Given the description of an element on the screen output the (x, y) to click on. 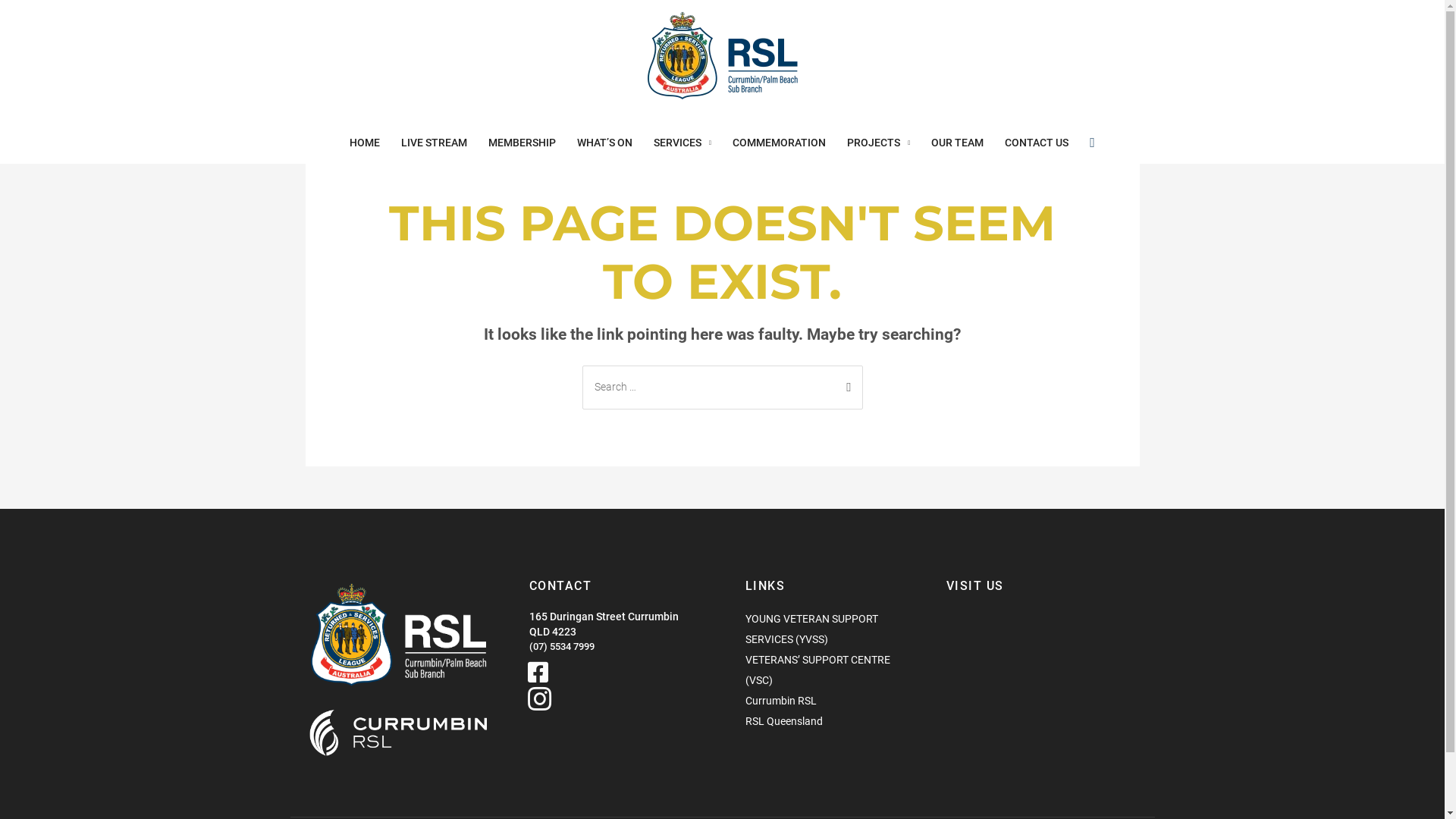
CONTACT US Element type: text (1036, 142)
SERVICES Element type: text (682, 142)
COMMEMORATION Element type: text (778, 142)
OUR TEAM Element type: text (957, 142)
Search Element type: text (845, 380)
165 duringan street currumbin Element type: hover (1046, 685)
(07) 5534 7999 Element type: text (614, 646)
HOME Element type: text (364, 142)
LIVE STREAM Element type: text (433, 142)
RSL Queensland Element type: text (783, 721)
Currumbin RSL Element type: text (779, 700)
MEMBERSHIP Element type: text (521, 142)
YOUNG VETERAN SUPPORT SERVICES (YVSS) Element type: text (829, 628)
PROJECTS Element type: text (878, 142)
